Given the description of an element on the screen output the (x, y) to click on. 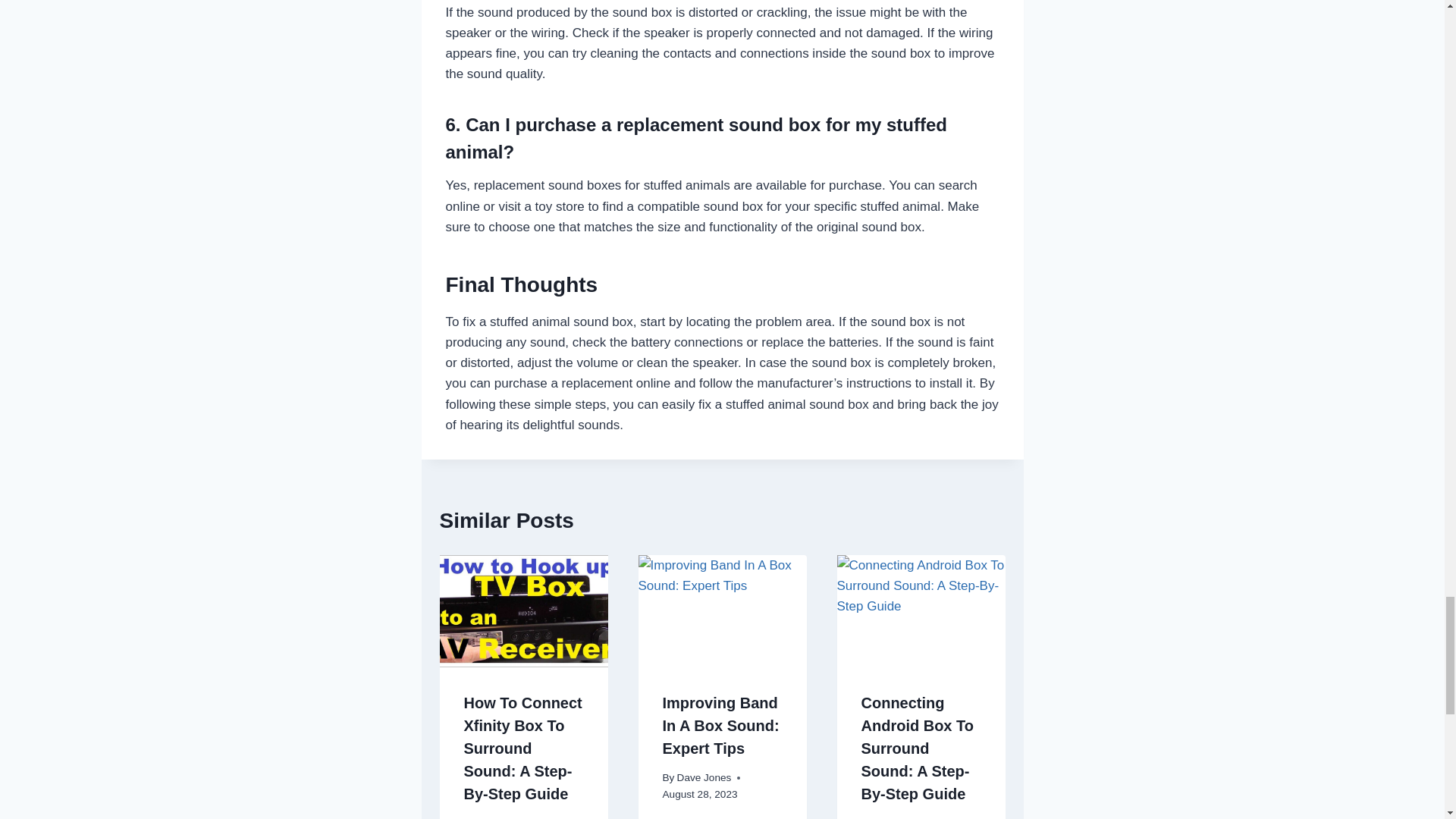
Dave Jones (903, 818)
Dave Jones (704, 777)
Dave Jones (505, 818)
Improving Band In A Box Sound: Expert Tips (720, 725)
